Given the description of an element on the screen output the (x, y) to click on. 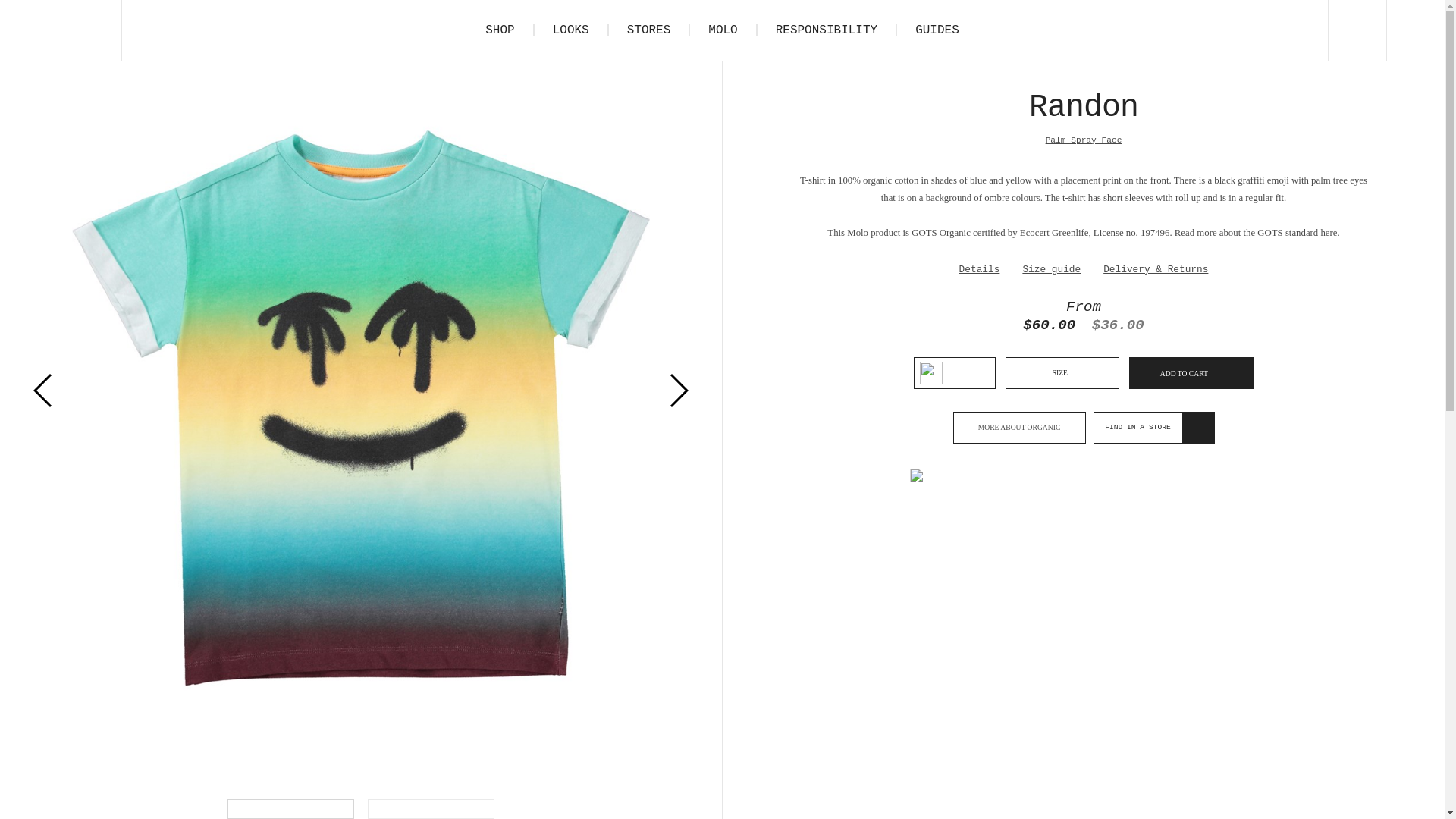
RESPONSIBILITY (826, 30)
LOOKS (570, 30)
Palm Spray Face (1083, 139)
GOTS standard (1287, 232)
STORES (648, 30)
SHOP (498, 30)
molo (61, 30)
GUIDES (937, 30)
MOLO (722, 30)
